Given the description of an element on the screen output the (x, y) to click on. 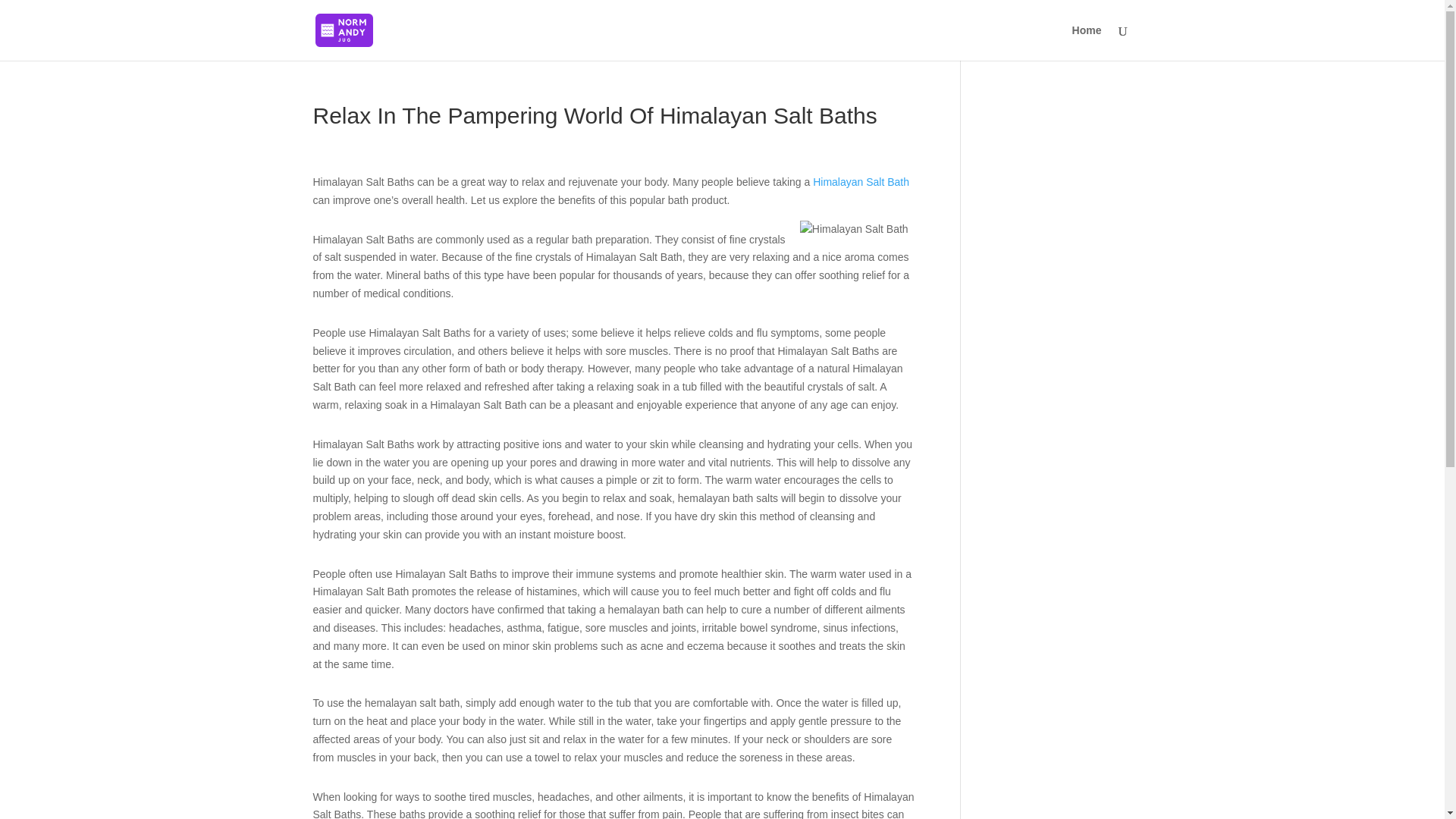
Himalayan Salt Bath (860, 182)
